Given the description of an element on the screen output the (x, y) to click on. 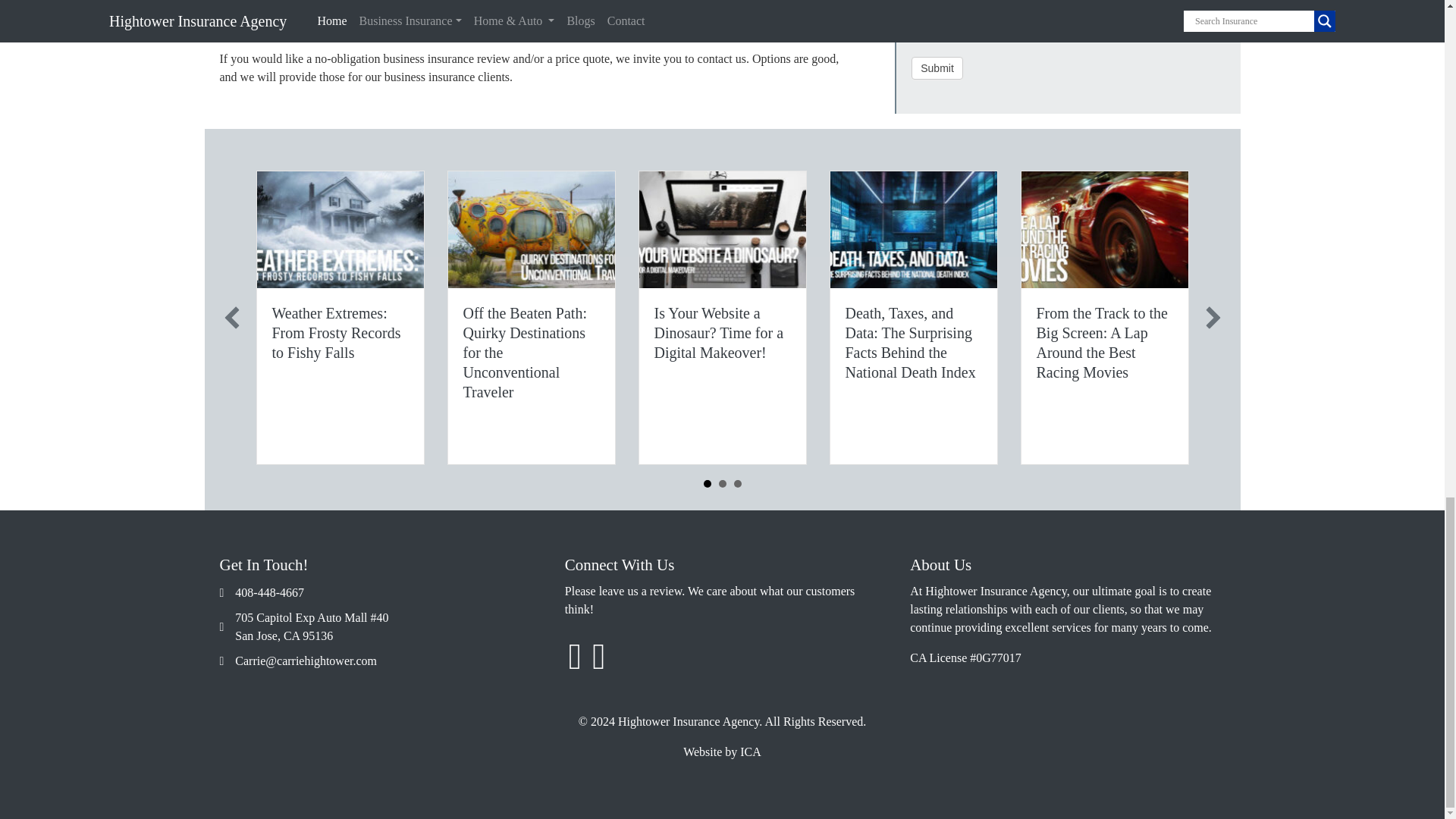
Is Your Website a Dinosaur? Time for a Digital Makeover! (718, 332)
Weather Extremes: From Frosty Records to Fishy Falls (335, 332)
Weather Extremes: From Frosty Records to Fishy Falls (335, 332)
FUN-Quirky Destinations for the Unconventional Traveler (530, 229)
